Given the description of an element on the screen output the (x, y) to click on. 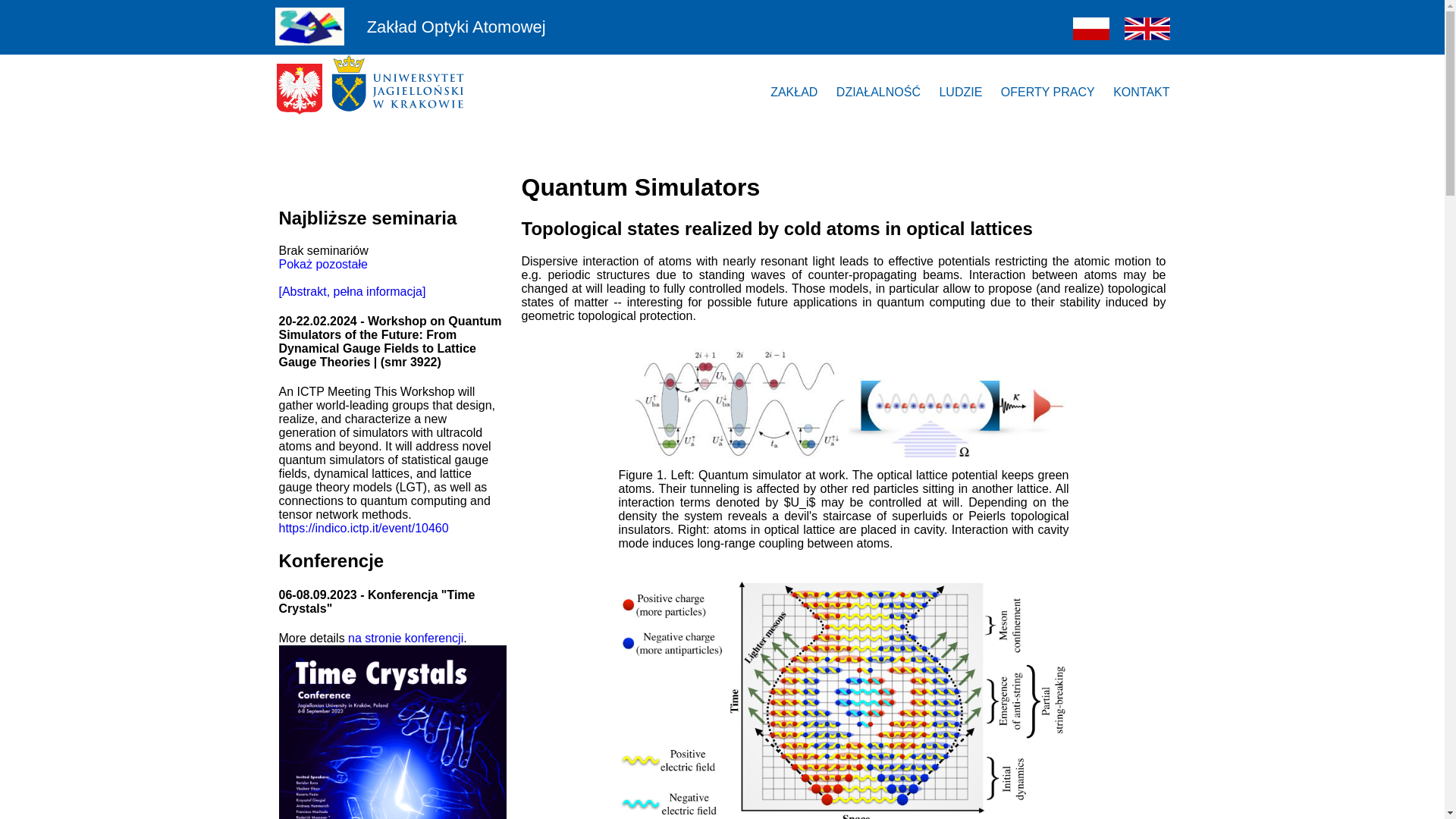
OFERTY PRACY (1047, 92)
na stronie konferencji (405, 637)
KONTAKT (1141, 92)
